Given the description of an element on the screen output the (x, y) to click on. 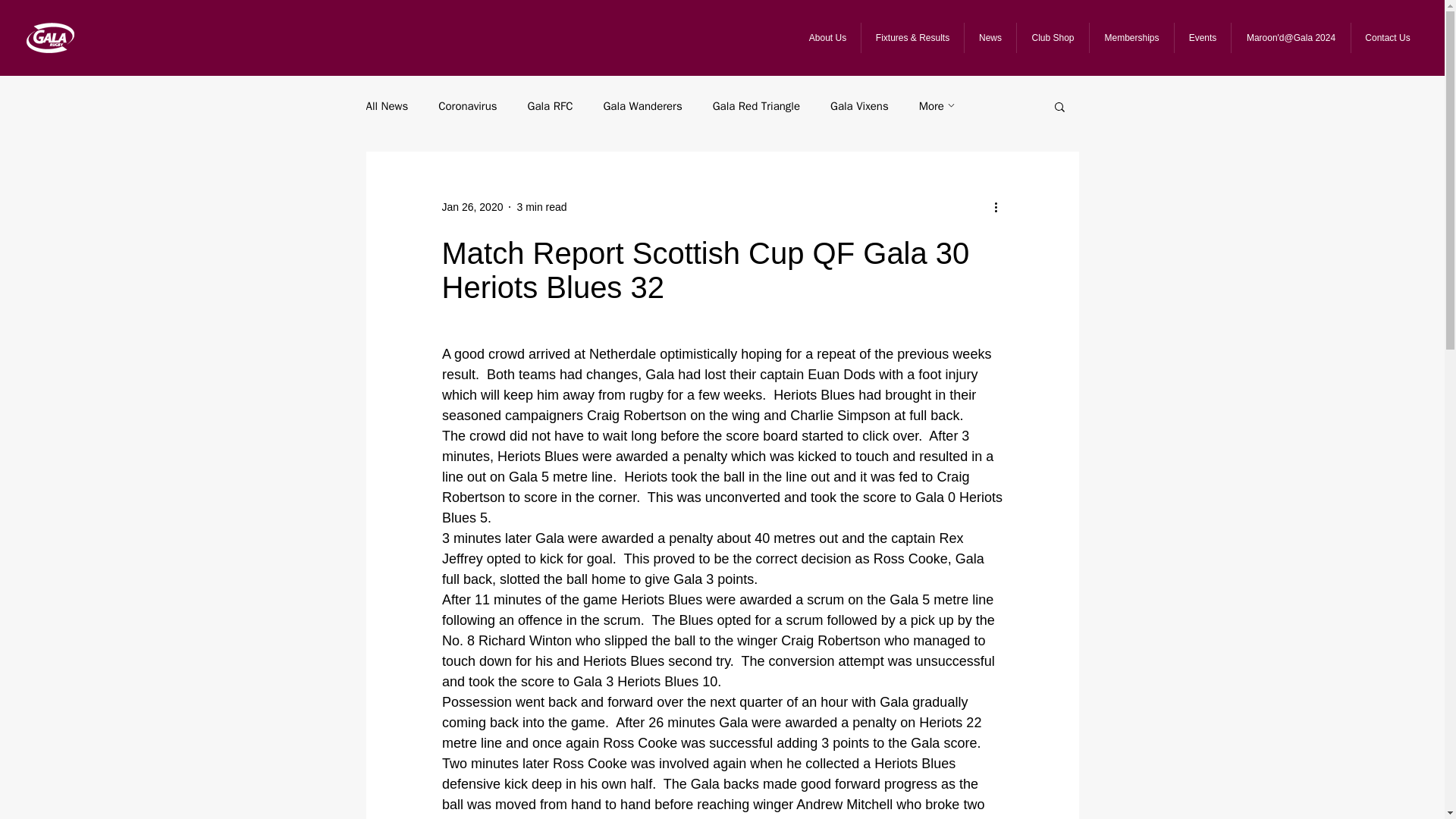
Club Shop (1052, 37)
3 min read (541, 205)
Jan 26, 2020 (471, 205)
Coronavirus (467, 105)
Gala Red Triangle (756, 105)
Contact Us (1387, 37)
News (989, 37)
All News (386, 105)
Gala RFC (550, 105)
Gala Wanderers (641, 105)
About Us (827, 37)
Events (1201, 37)
Gala Vixens (858, 105)
Memberships (1131, 37)
